Given the description of an element on the screen output the (x, y) to click on. 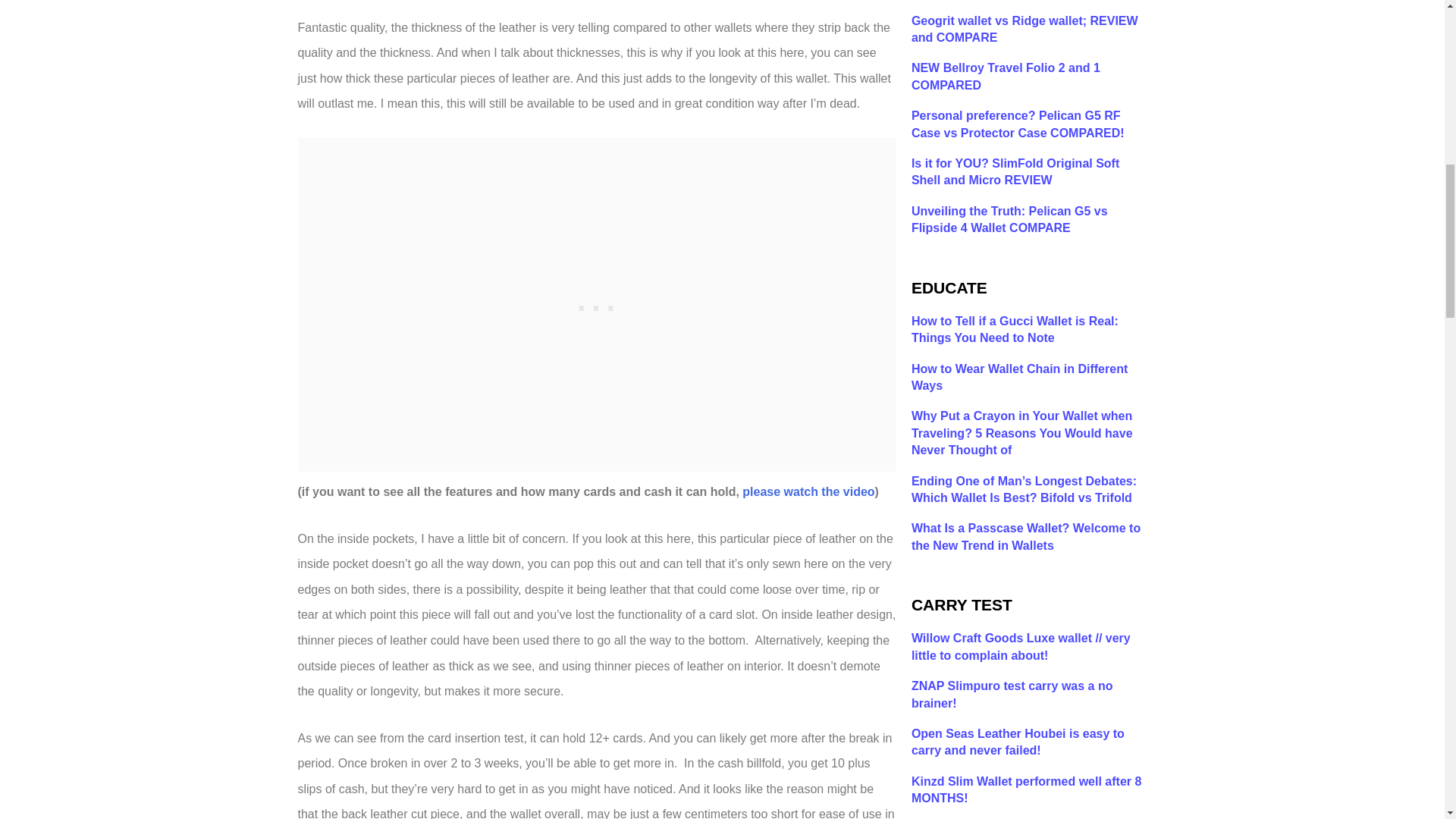
please watch the video (808, 491)
